Given the description of an element on the screen output the (x, y) to click on. 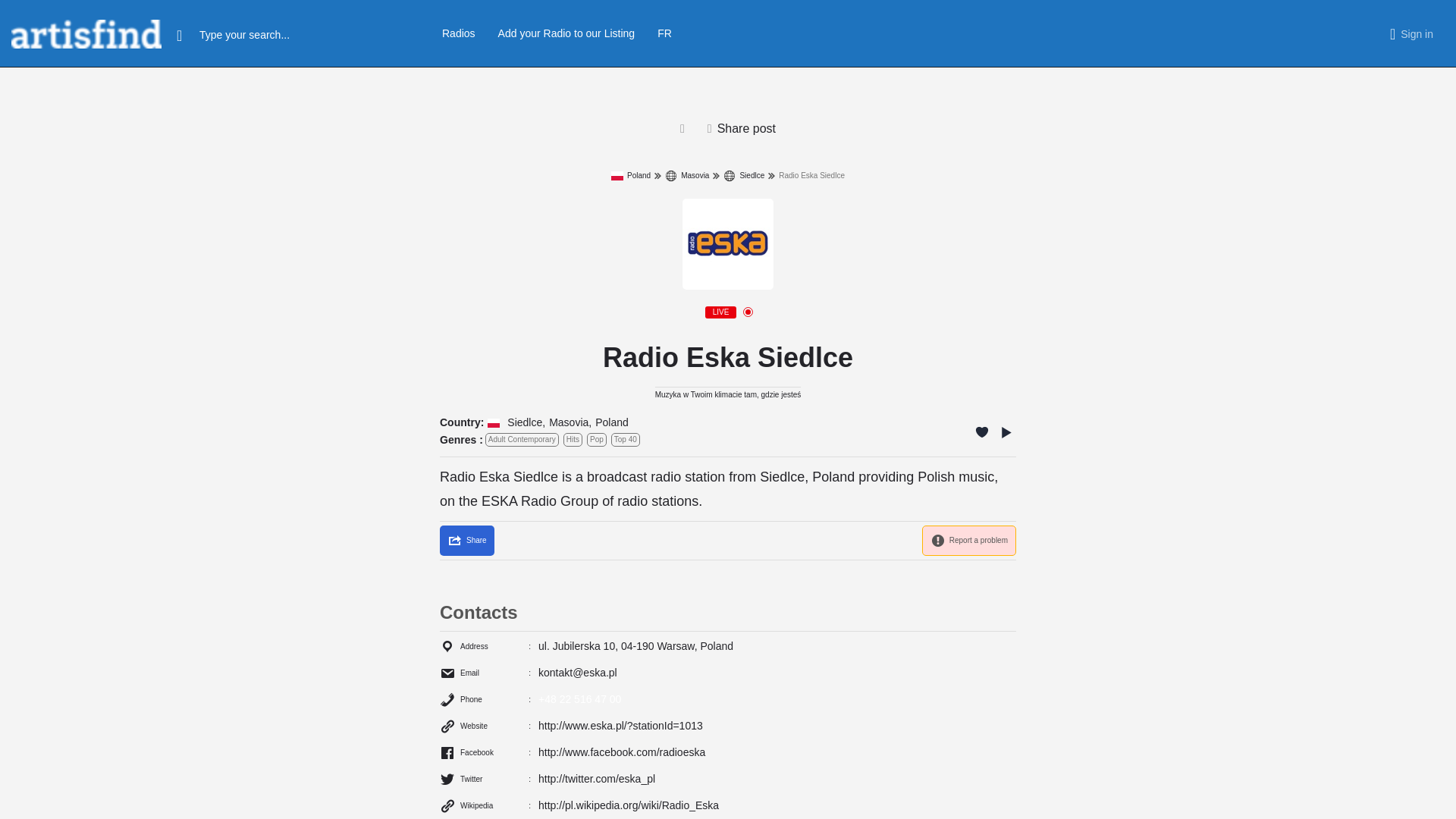
Poland (630, 175)
Radio Eska Siedlce (727, 244)
Share (467, 540)
Adult Contemporary (521, 439)
Report a problem (968, 540)
Share post (741, 129)
FR (664, 32)
Radios (459, 32)
Share (467, 540)
Siedlce (523, 422)
Top 40 (625, 439)
Poland (611, 422)
Hits (572, 439)
Masovia (687, 175)
Sign in (1416, 33)
